Given the description of an element on the screen output the (x, y) to click on. 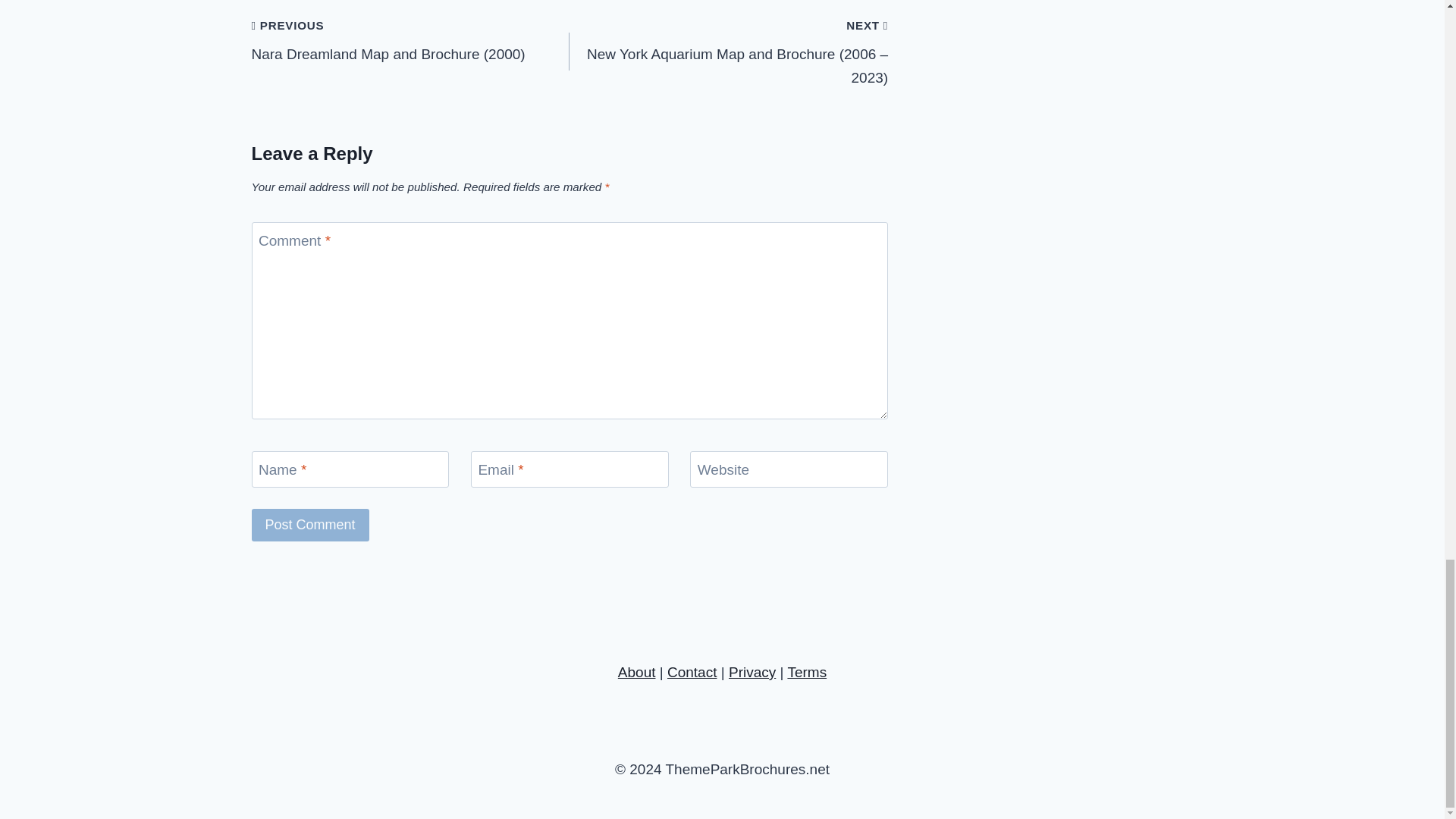
Post Comment (310, 524)
Post Comment (310, 524)
Privacy (752, 672)
About (636, 672)
Terms (807, 672)
Contact (691, 672)
